Given the description of an element on the screen output the (x, y) to click on. 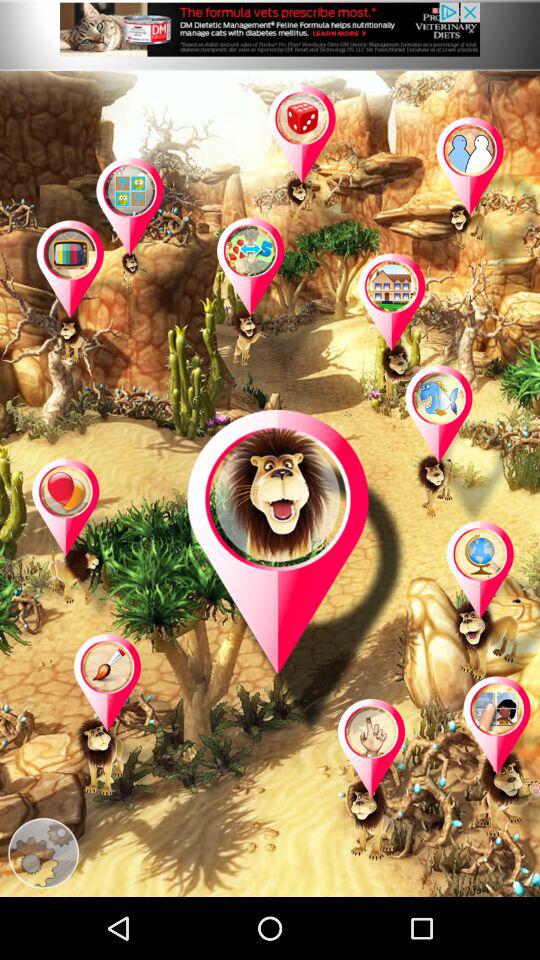
game options to play (91, 302)
